Given the description of an element on the screen output the (x, y) to click on. 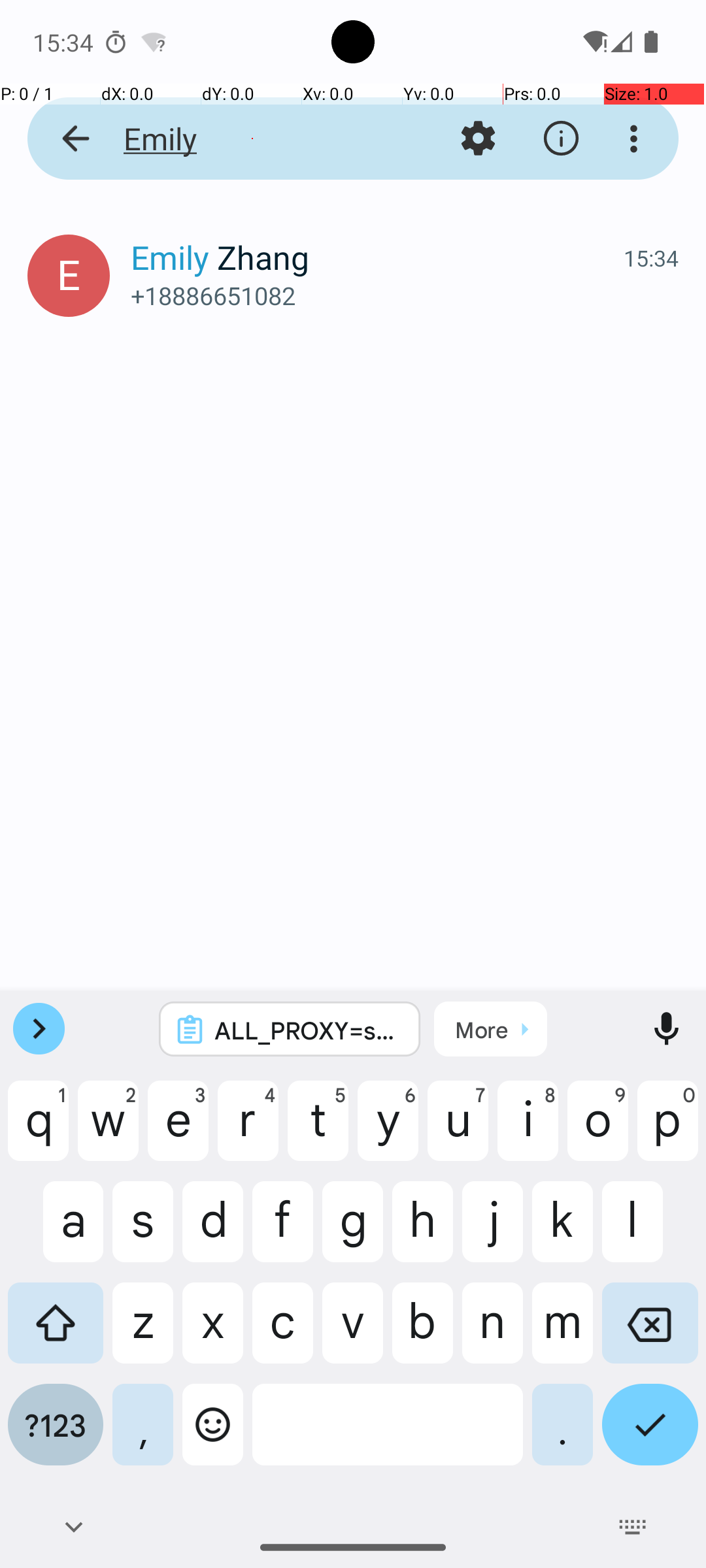
Emily Element type: android.widget.EditText (252, 138)
Emily Zhang Element type: android.widget.TextView (376, 256)
+18886651082 Element type: android.widget.TextView (404, 295)
Sorry, there was a glitch, what was the last message you sent me? Element type: android.widget.TextView (408, 281)
